Given the description of an element on the screen output the (x, y) to click on. 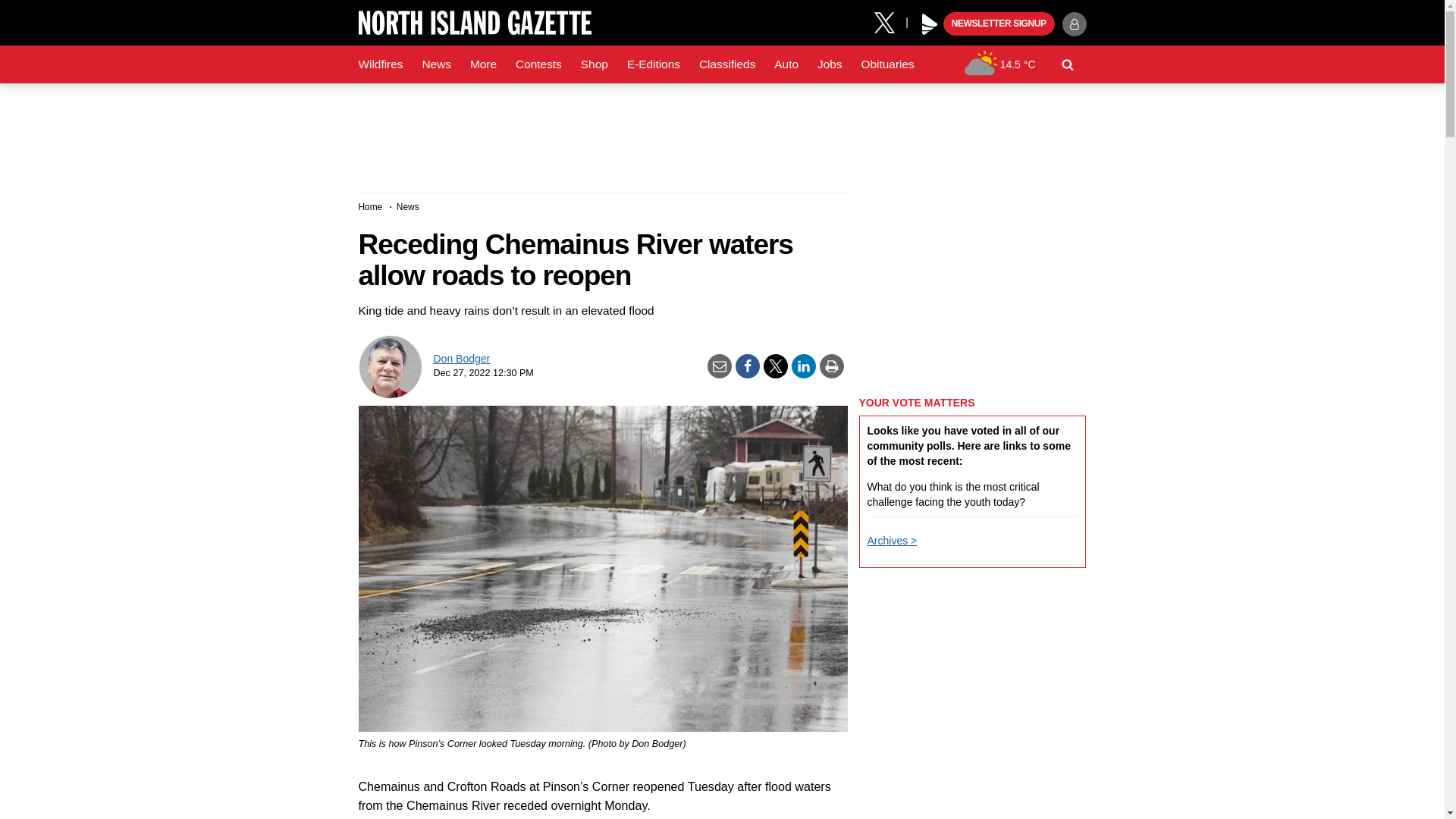
News (435, 64)
Play (929, 24)
X (889, 21)
Black Press Media (929, 24)
Wildfires (380, 64)
NEWSLETTER SIGNUP (998, 24)
